Given the description of an element on the screen output the (x, y) to click on. 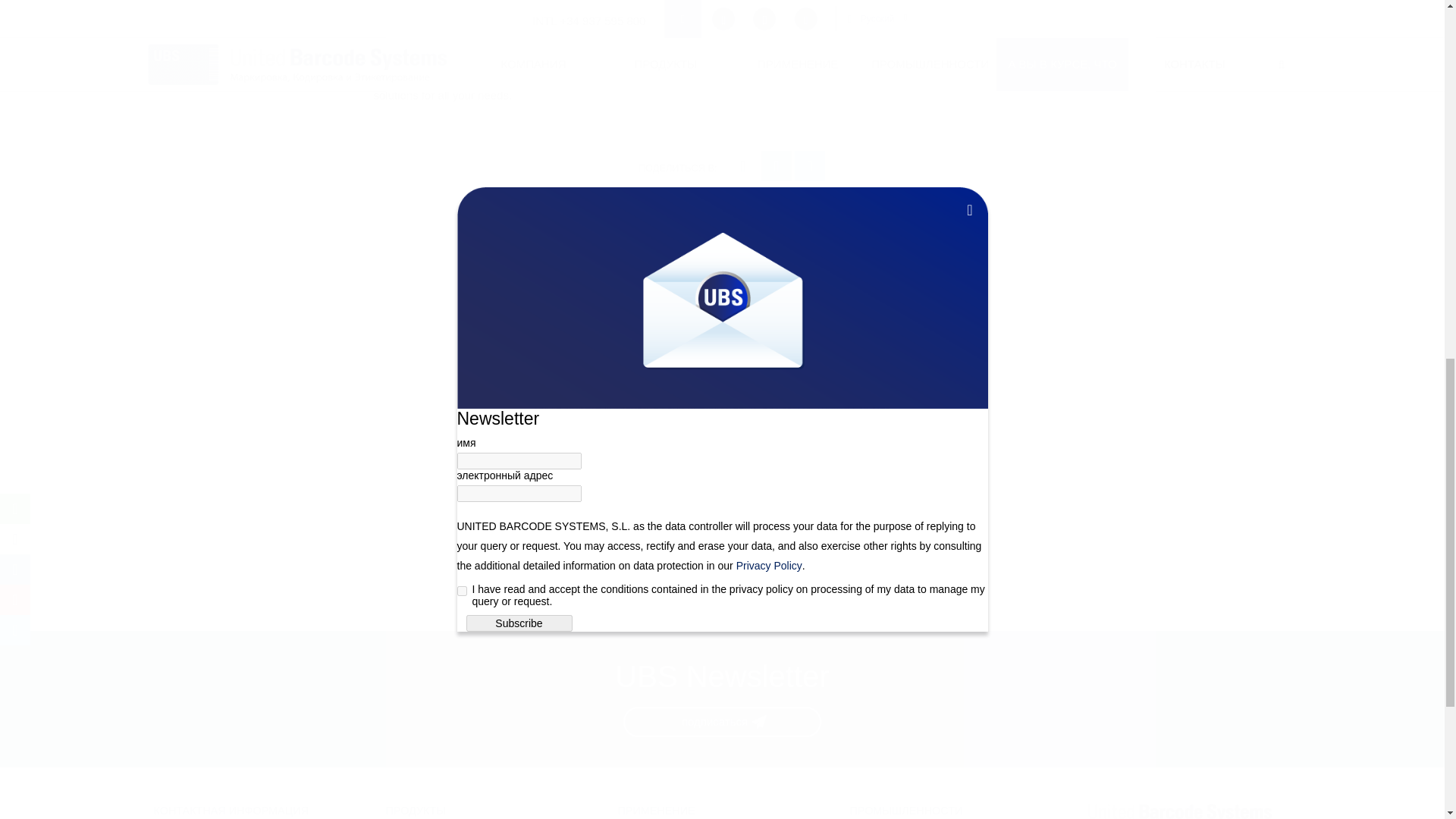
UBS. United Barcode Systems. The right choice (1185, 808)
